Given the description of an element on the screen output the (x, y) to click on. 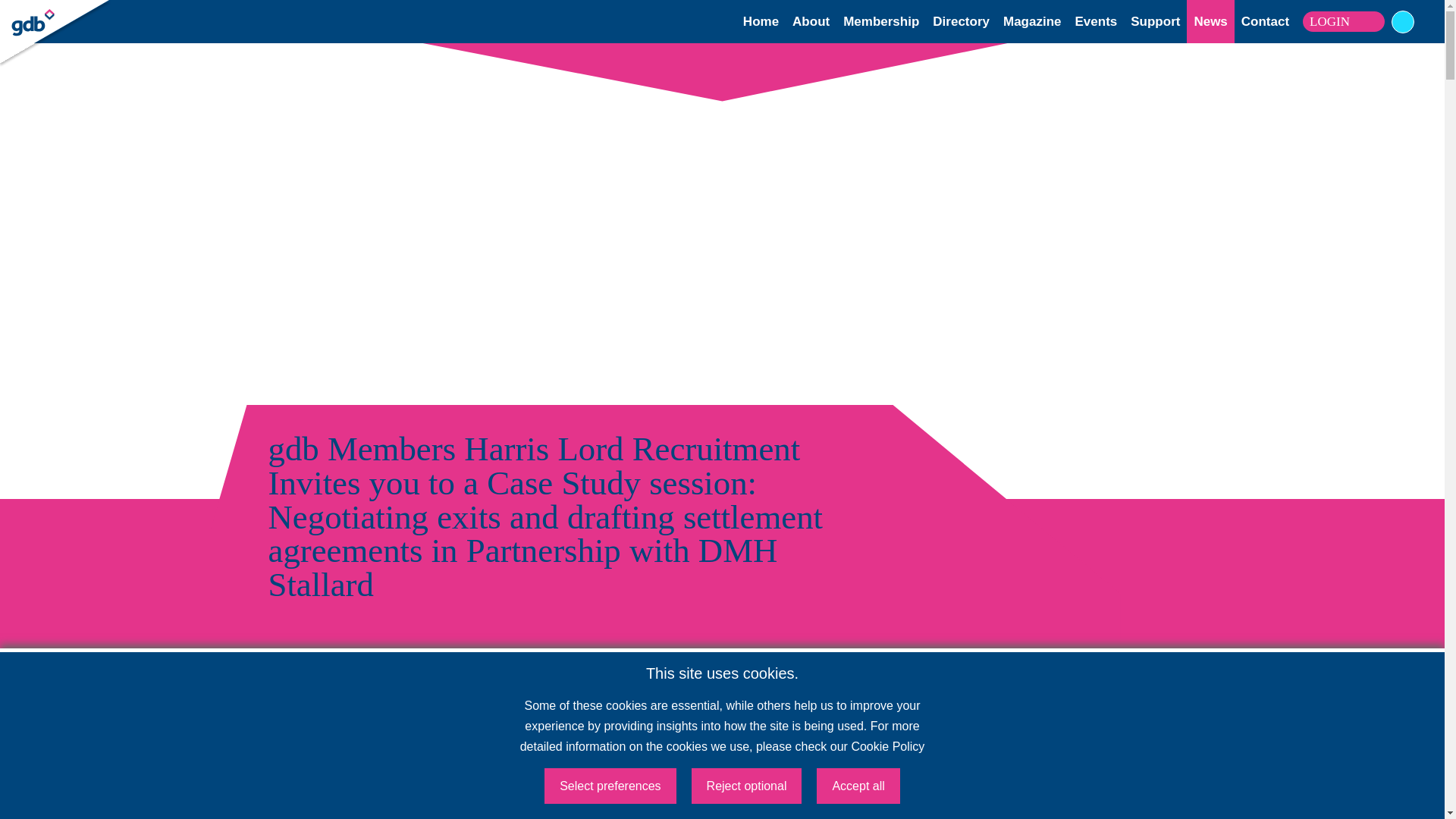
LOGIN (1343, 21)
LOGIN (52, 13)
Magazine (1032, 21)
Events (1096, 21)
Directory (961, 21)
Membership (880, 21)
Support (1155, 21)
Contact (1264, 21)
